Given the description of an element on the screen output the (x, y) to click on. 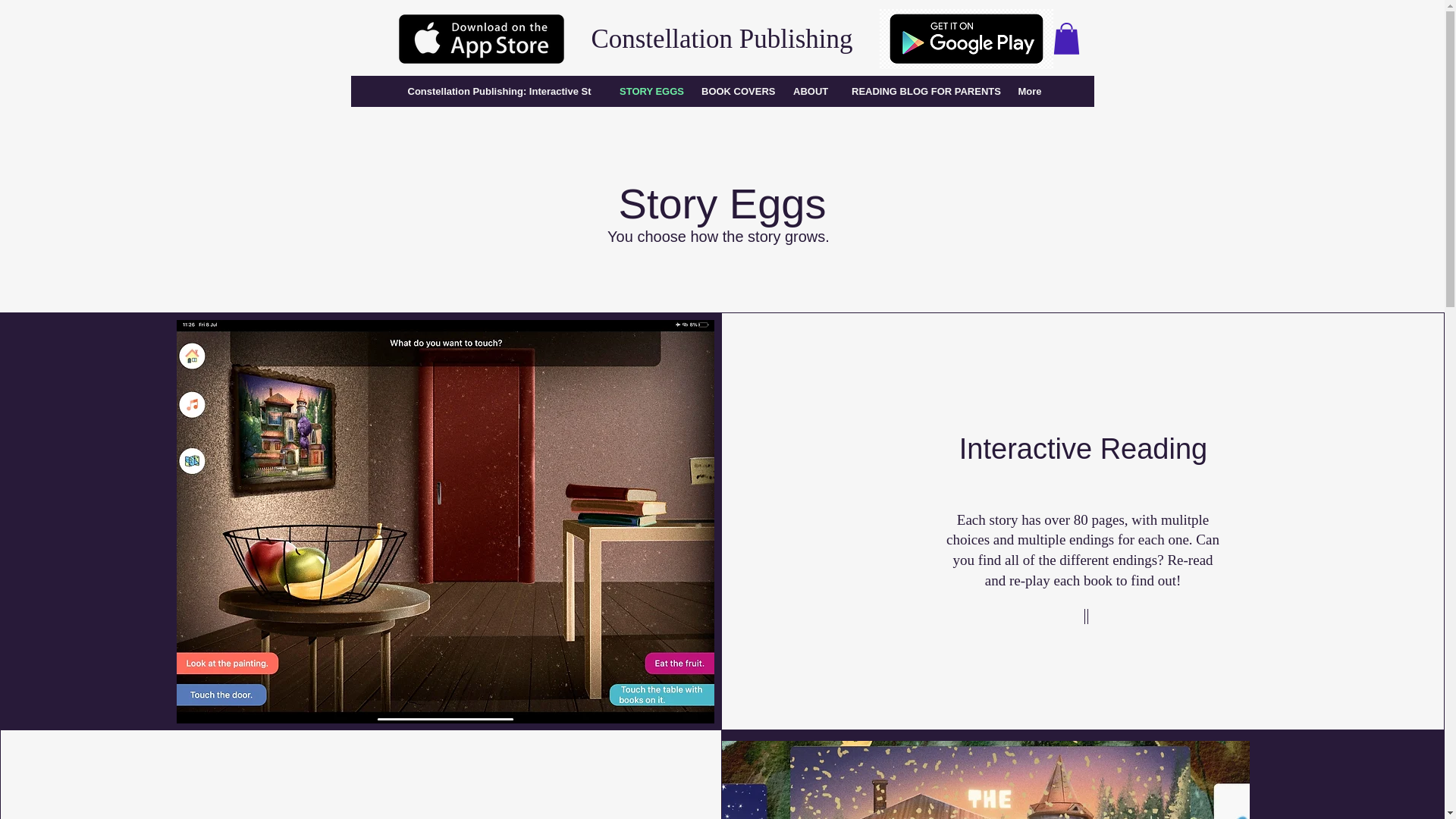
BOOK COVERS (734, 91)
ABOUT (810, 91)
Constellation Publishing: Interactive St (498, 91)
READING BLOG FOR PARENTS (922, 91)
Constellation Publishing (721, 39)
STORY EGGS (647, 91)
